Given the description of an element on the screen output the (x, y) to click on. 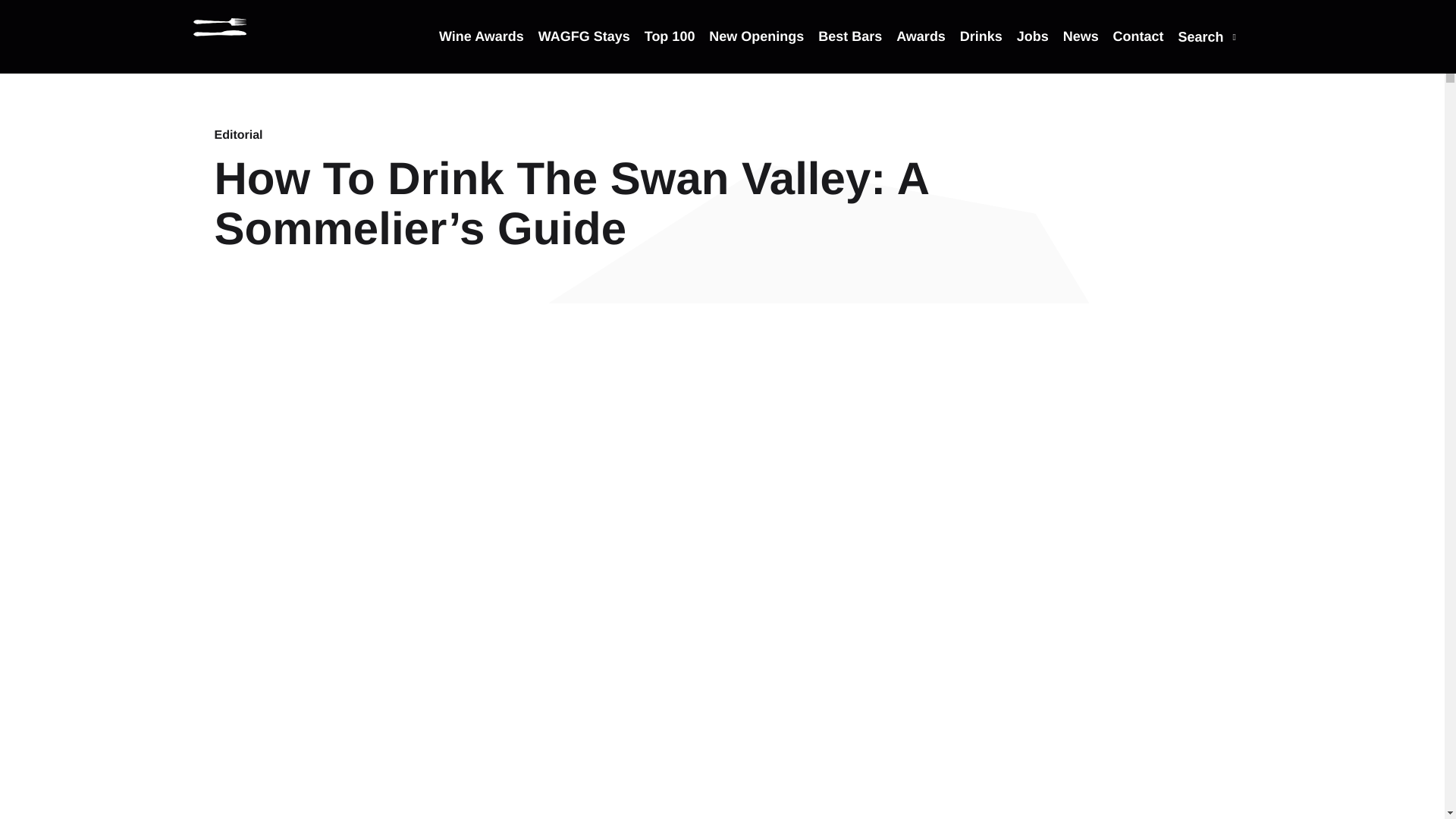
Awards (920, 49)
Top 100 (670, 49)
Search (1206, 50)
WAGFG Stays (584, 49)
New Openings (756, 49)
Contact (1138, 49)
The West Australian Good Food Guide (219, 26)
Drinks (981, 49)
Wine Awards (481, 49)
Best Bars (850, 49)
